Given the description of an element on the screen output the (x, y) to click on. 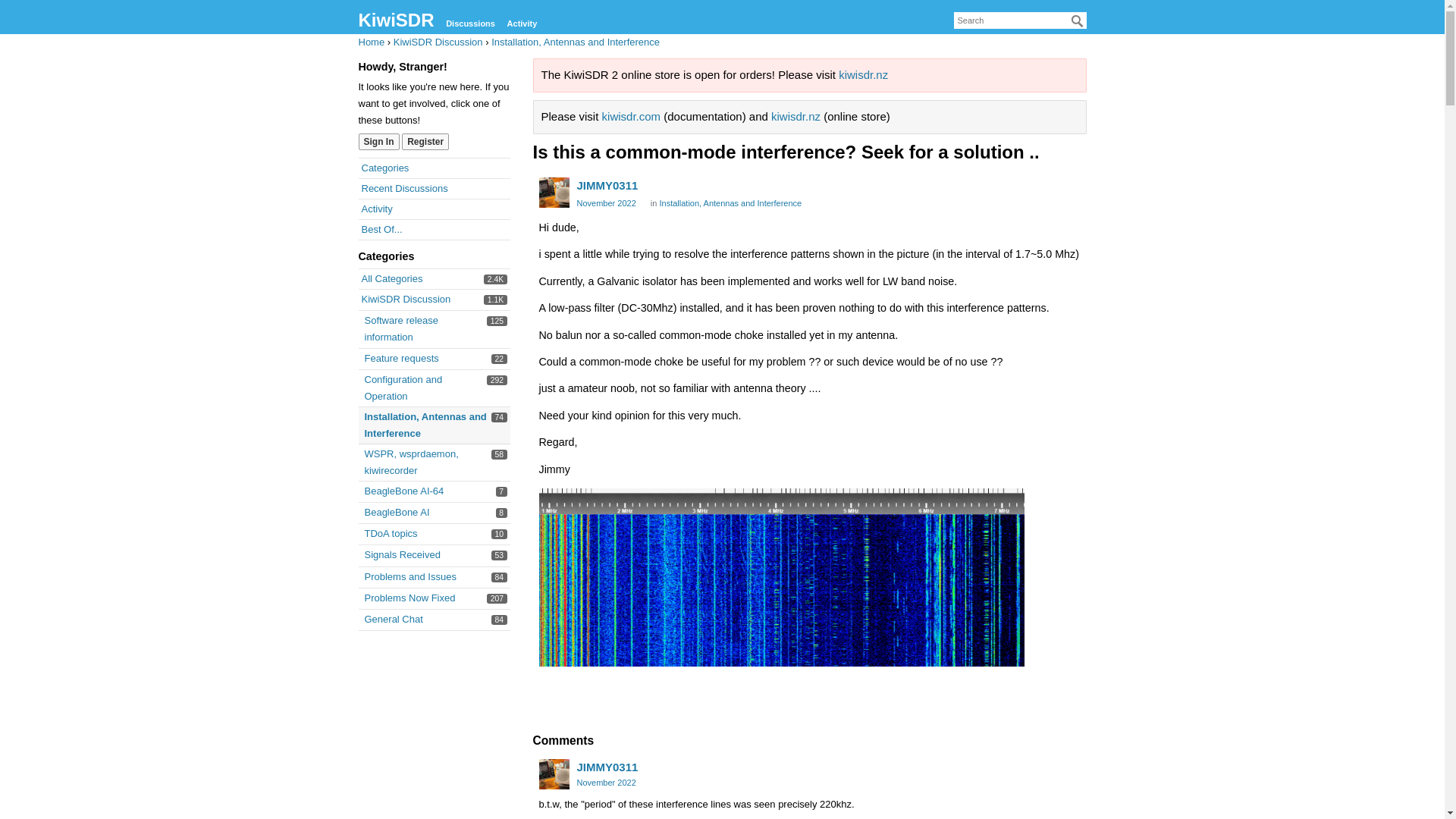
10 discussions (499, 533)
Recent Discussions (401, 328)
207 discussions (403, 188)
58 discussions (496, 598)
November 2022 (499, 454)
JIMMY0311 (605, 782)
Categories (606, 766)
Home (385, 167)
Go (371, 41)
